Given the description of an element on the screen output the (x, y) to click on. 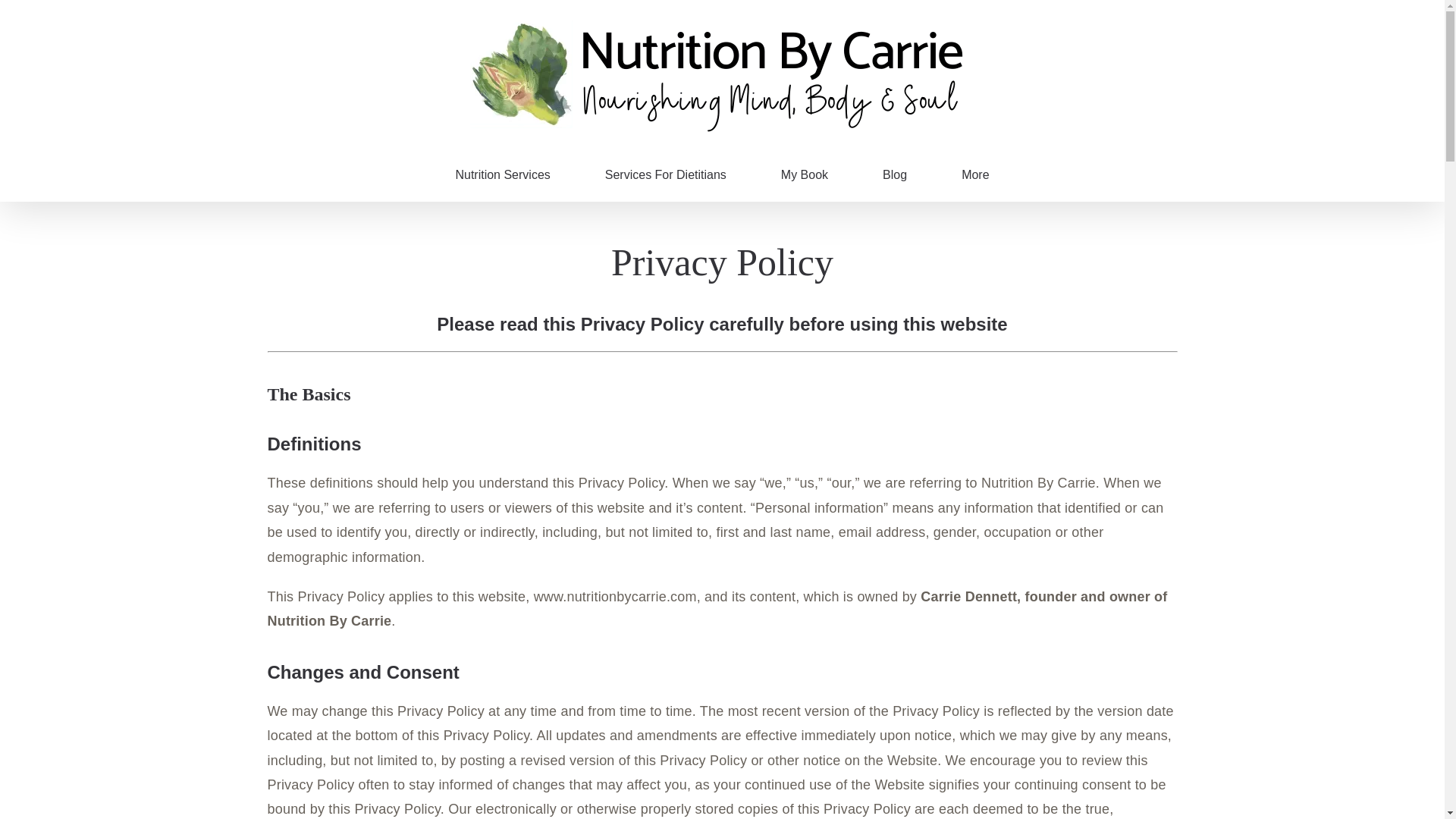
My Book (804, 174)
Nutrition Services (502, 174)
Services For Dietitians (665, 174)
